Given the description of an element on the screen output the (x, y) to click on. 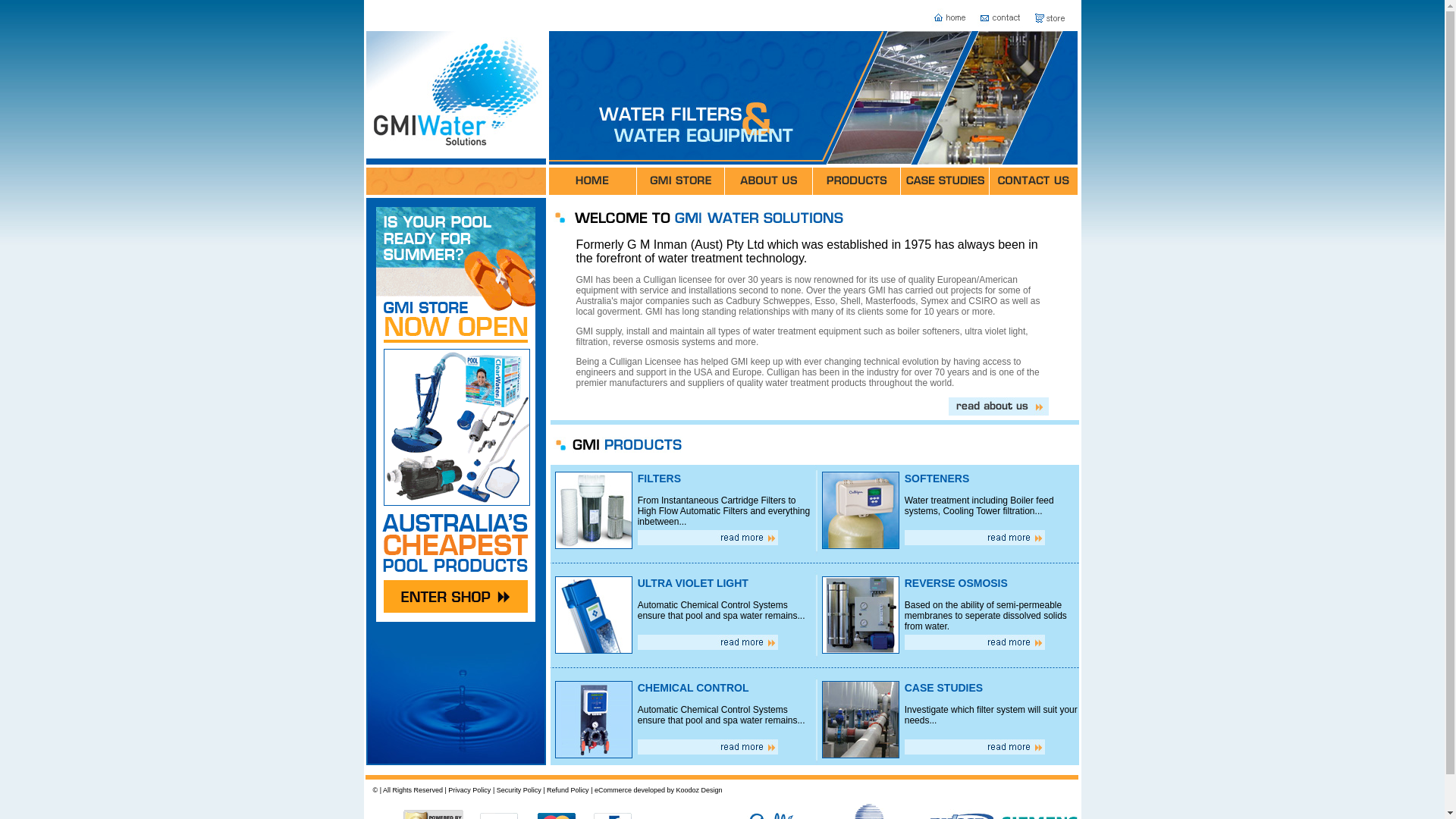
GMI Store Element type: text (680, 180)
Privacy Policy Element type: text (469, 789)
Refund Policy Element type: text (567, 789)
Home Element type: text (592, 180)
Contact Us Element type: text (1033, 180)
Products Element type: text (856, 180)
eCommerce developed by Koodoz Design Element type: text (658, 789)
Case Studies Element type: text (944, 180)
Security Policy Element type: text (518, 789)
About Us Element type: text (768, 180)
